Given the description of an element on the screen output the (x, y) to click on. 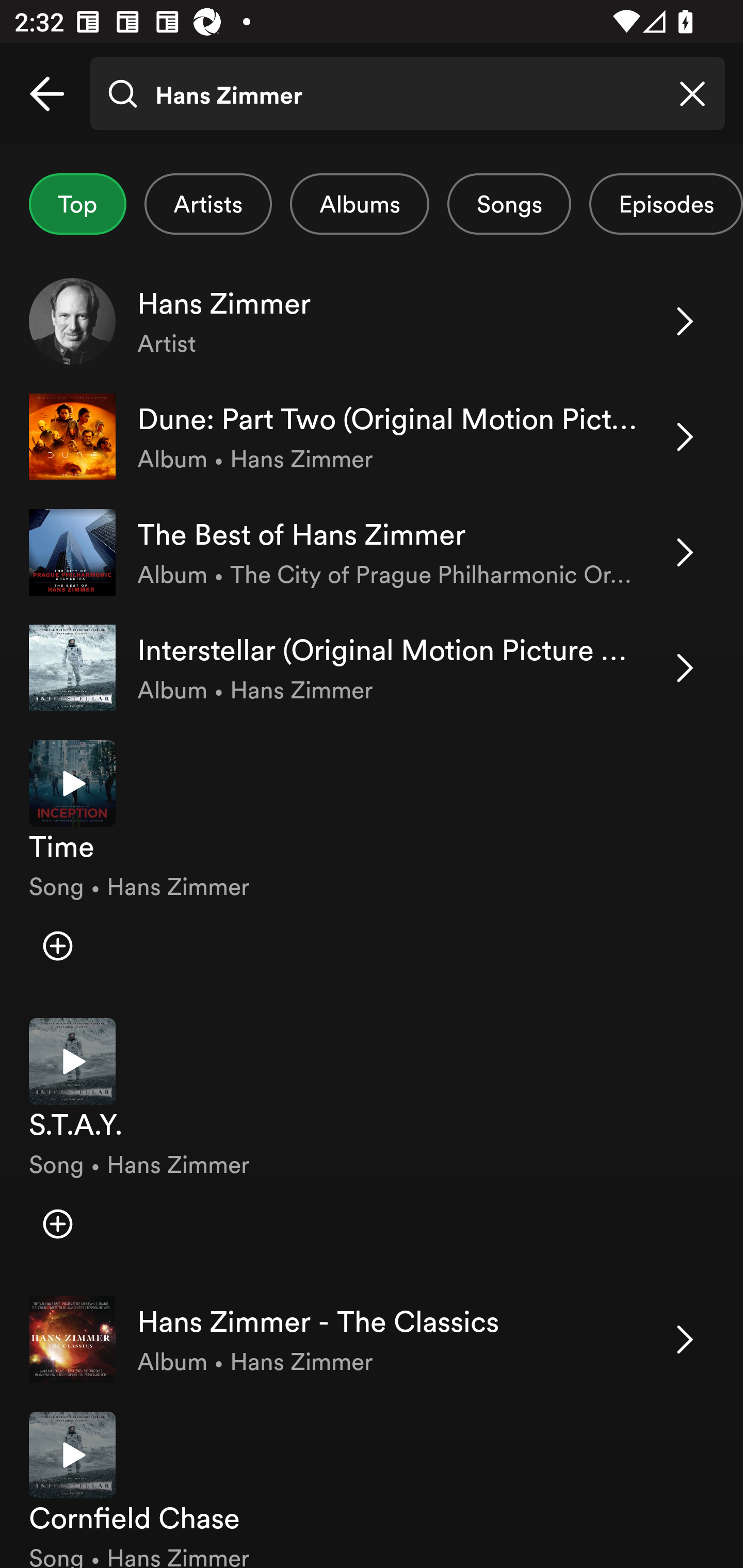
Back (46, 93)
Hans Zimmer Search (407, 94)
Clear Search (692, 94)
Top (77, 203)
Artists (207, 203)
Albums (359, 203)
Songs (509, 203)
Episodes (666, 203)
Hans Zimmer Artist (371, 321)
Play preview Time Song • Hans Zimmer Add item (371, 864)
Play preview (71, 783)
Add item (57, 946)
Play preview S.T.A.Y. Song • Hans Zimmer Add item (371, 1142)
Play preview (71, 1061)
Add item (57, 1223)
Hans Zimmer - The Classics Album • Hans Zimmer (371, 1339)
Play preview Cornfield Chase Song • Hans Zimmer (371, 1482)
Play preview (71, 1455)
